Given the description of an element on the screen output the (x, y) to click on. 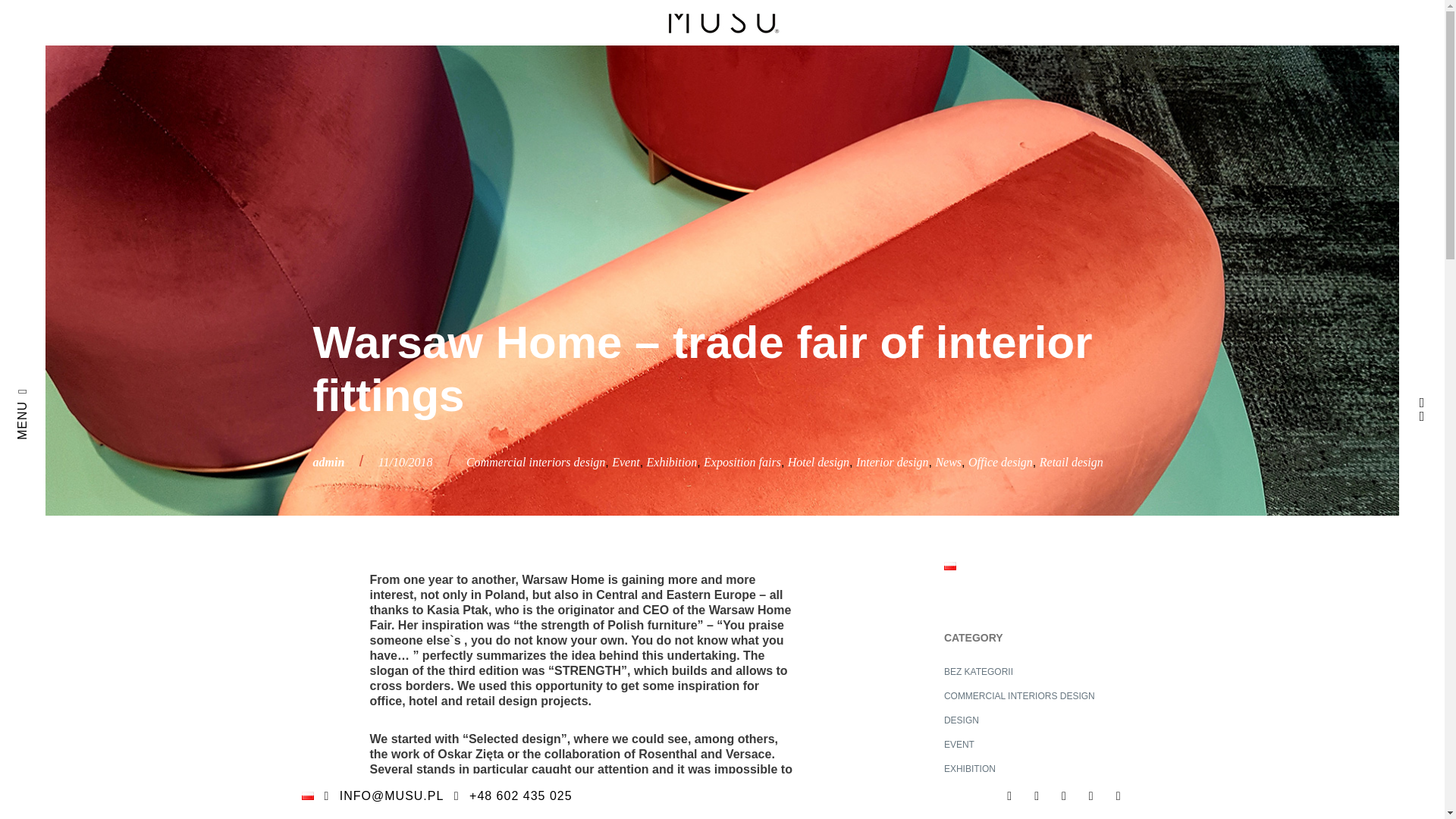
Interior design (892, 461)
Exposition fairs (741, 461)
Event (625, 461)
Retail design (1071, 461)
News (947, 461)
DESIGN (1026, 719)
Commercial interiors design (535, 461)
COMMERCIAL INTERIORS DESIGN (1026, 696)
BEZ KATEGORII (1026, 671)
Hotel design (817, 461)
Exhibition (671, 461)
Office design (1000, 461)
